Given the description of an element on the screen output the (x, y) to click on. 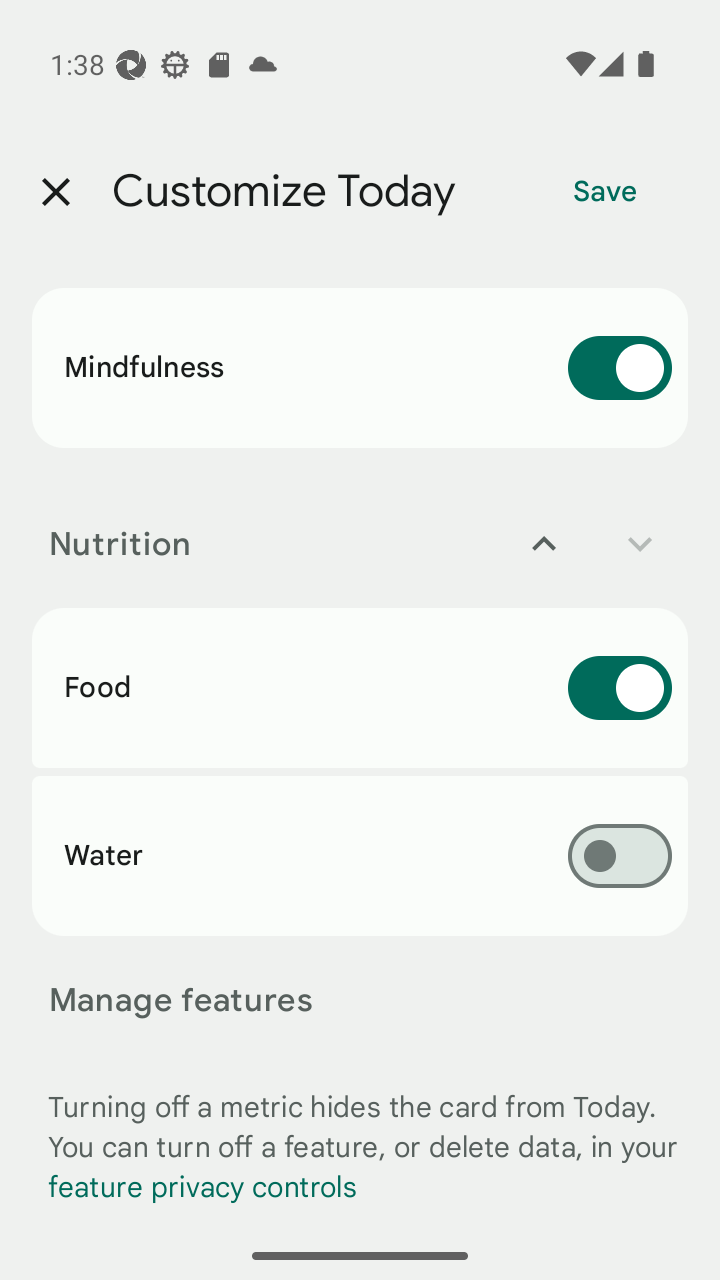
Close (55, 191)
Save (605, 191)
Mindfulness (359, 368)
Move Nutrition up (543, 543)
Move Nutrition down (639, 543)
Food (359, 688)
Water (359, 855)
